Given the description of an element on the screen output the (x, y) to click on. 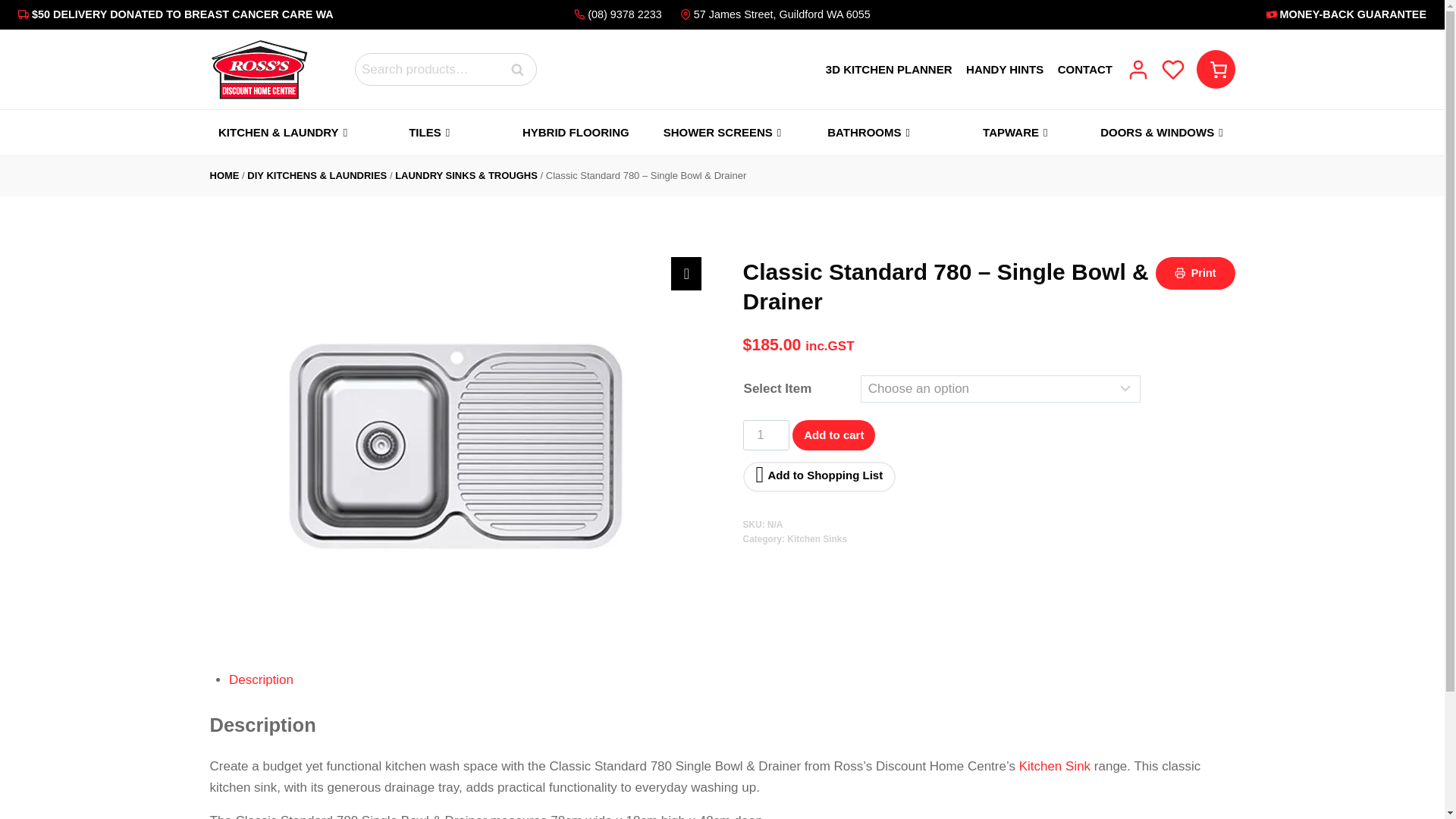
HANDY HINTS (1004, 68)
MONEY-BACK GUARANTEE (1199, 14)
Search (518, 69)
1 (766, 435)
57 James Street, Guildford WA 6055 (772, 14)
CONTACT (1085, 68)
3D KITCHEN PLANNER (888, 68)
